Given the description of an element on the screen output the (x, y) to click on. 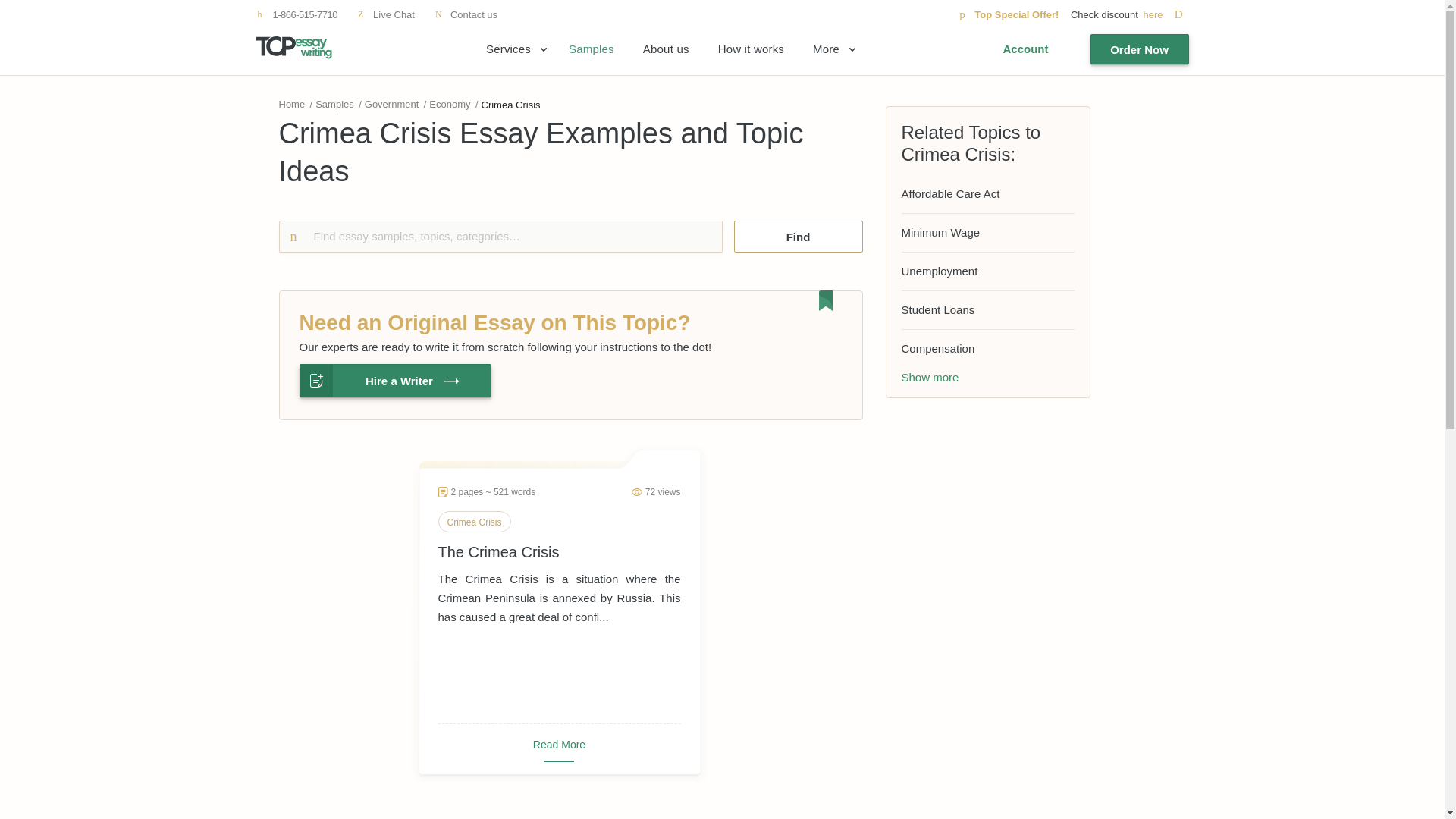
Live Chat (385, 14)
1-866-515-7710 (296, 14)
Account (1025, 49)
How it works (750, 49)
Find (798, 236)
Home (292, 103)
Samples (591, 49)
Hire a Writer (394, 380)
Contact us (465, 14)
Samples (334, 103)
here (1165, 14)
Order Now (1139, 49)
Government (392, 103)
Economy (449, 103)
About us (665, 49)
